Given the description of an element on the screen output the (x, y) to click on. 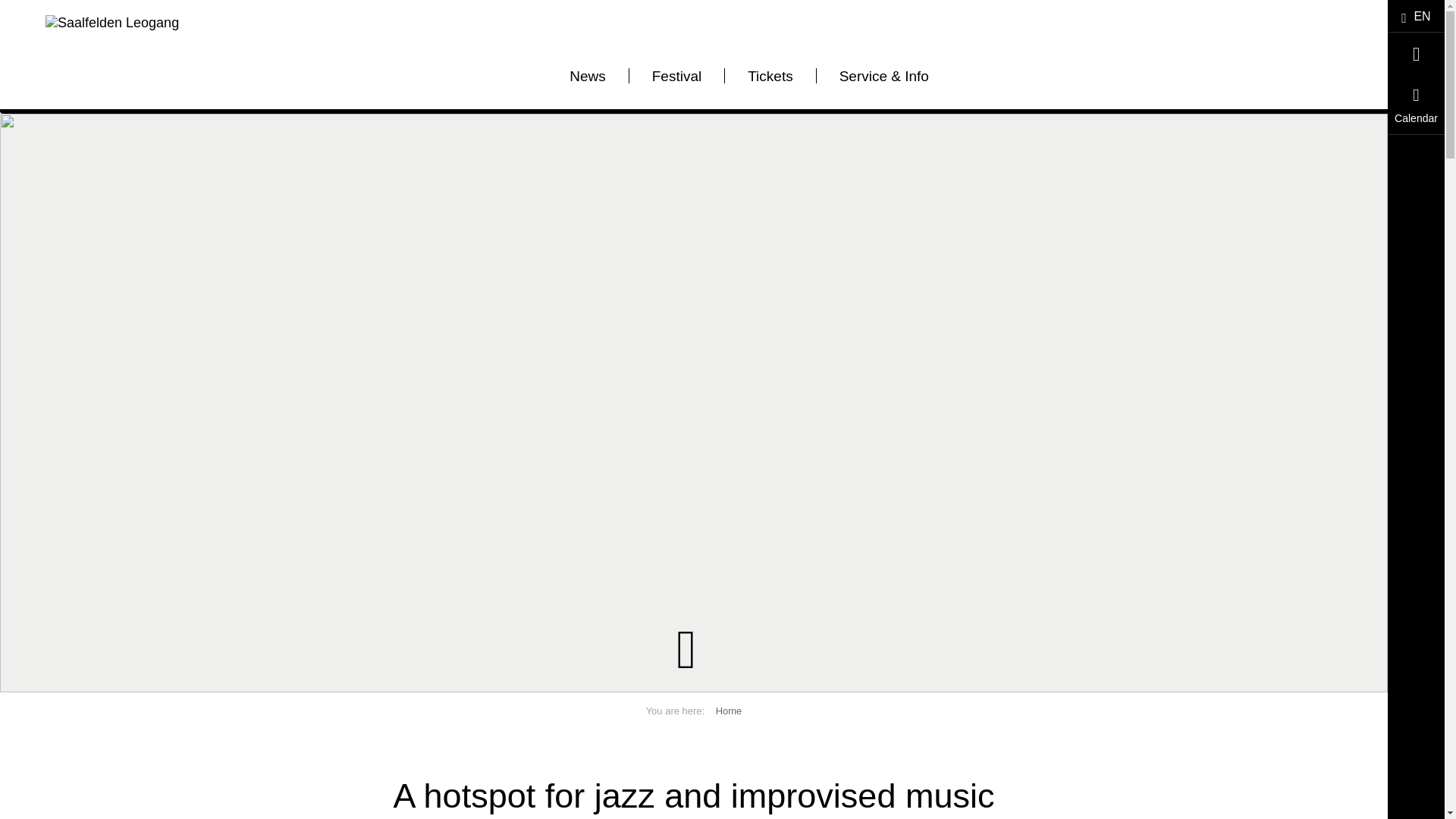
Tickets (770, 86)
Festival (676, 86)
Festival (676, 86)
News (587, 86)
News (587, 86)
